Given the description of an element on the screen output the (x, y) to click on. 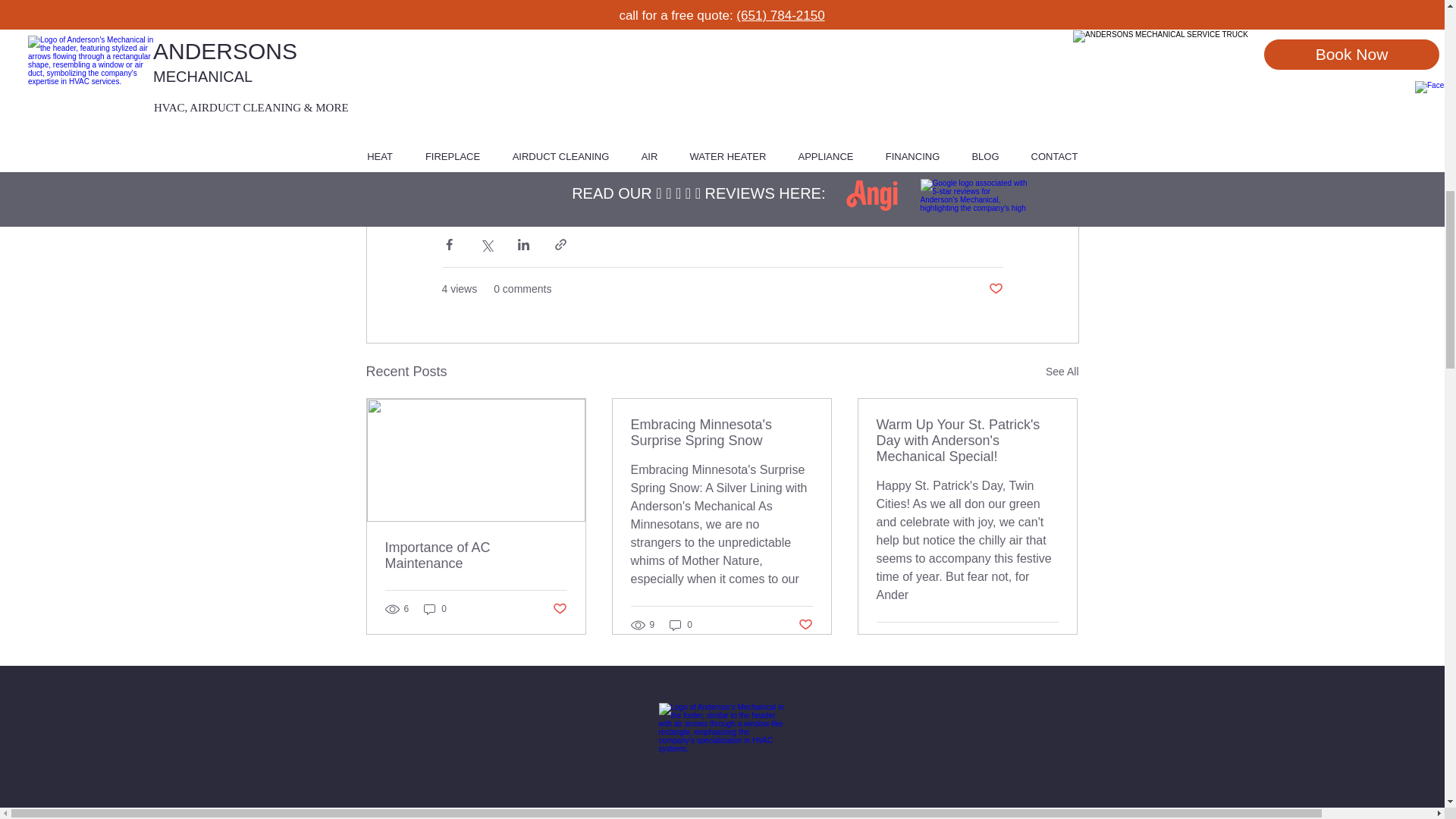
Post not marked as liked (995, 289)
Post not marked as liked (804, 625)
0 (435, 608)
Post not marked as liked (1050, 640)
0 (681, 624)
www.andersonsmechanical.com (626, 110)
See All (1061, 372)
Embracing Minnesota's Surprise Spring Snow (721, 432)
Post not marked as liked (558, 608)
Importance of AC Maintenance (476, 555)
